Given the description of an element on the screen output the (x, y) to click on. 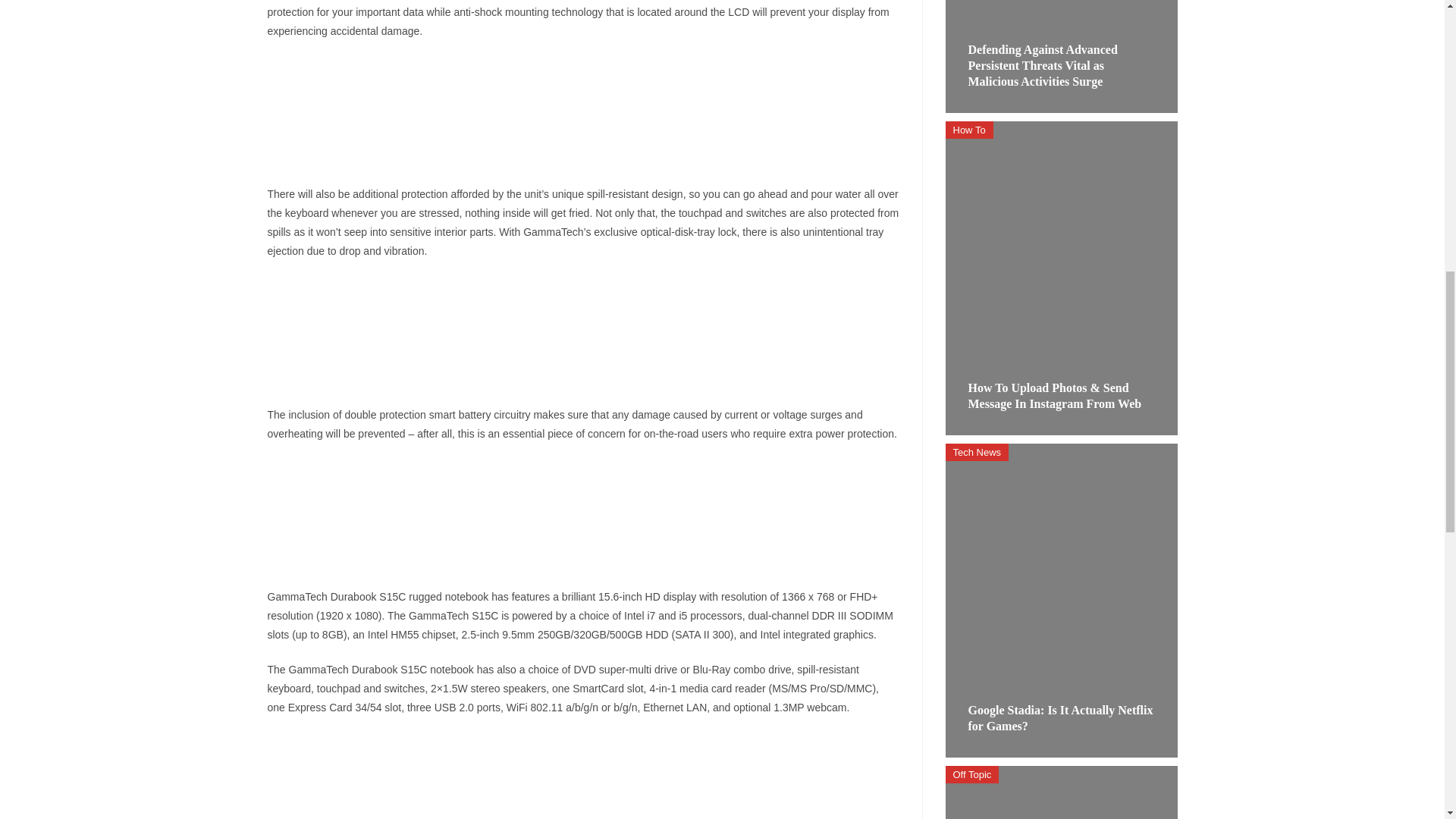
Off Topic (971, 773)
Google Stadia: Is It Actually Netflix for Games? (1060, 717)
How To (968, 129)
Tech News (976, 452)
